Given the description of an element on the screen output the (x, y) to click on. 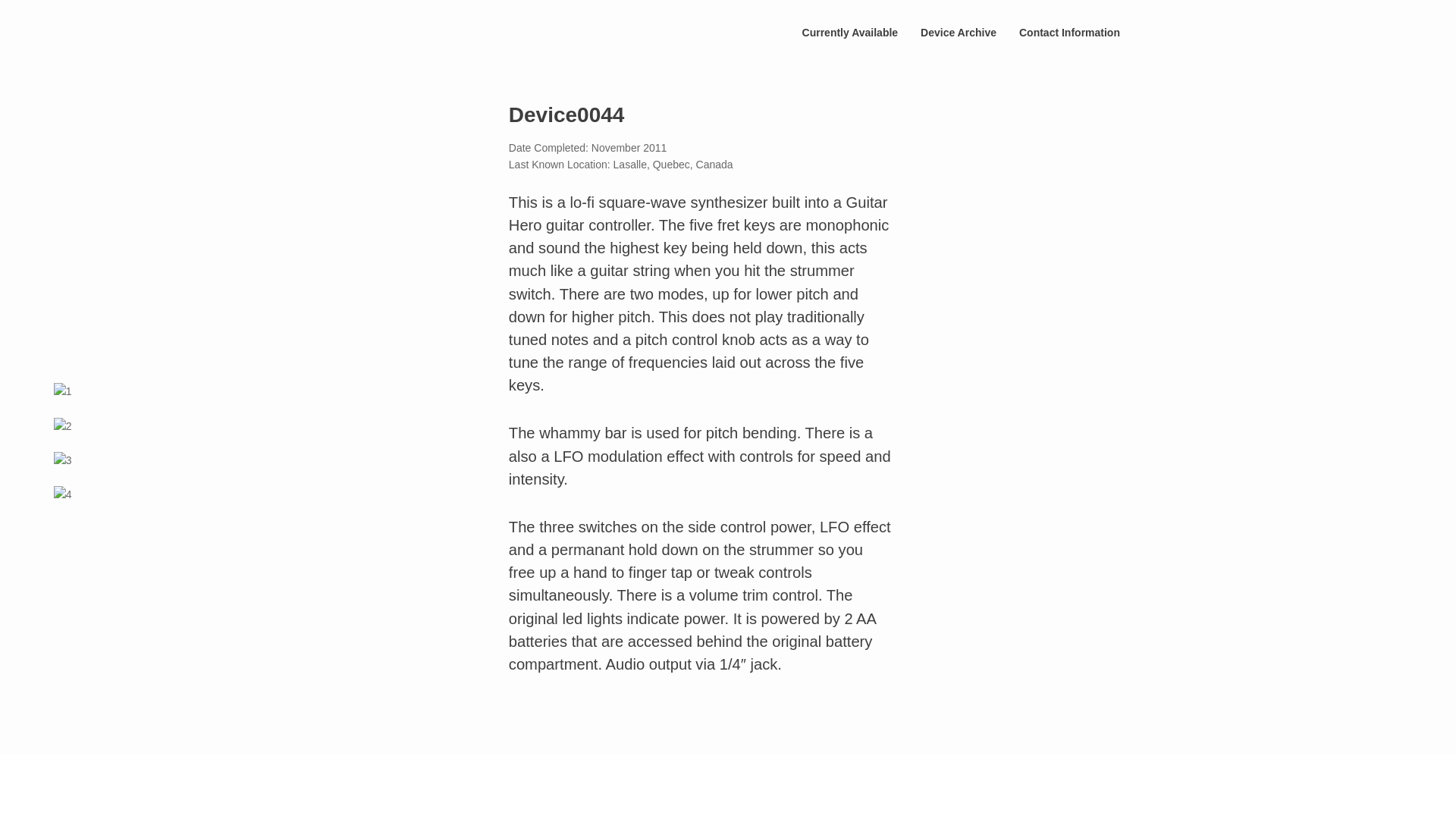
Currently Available (850, 31)
Device Archive (957, 31)
Contact Information (1069, 31)
